Given the description of an element on the screen output the (x, y) to click on. 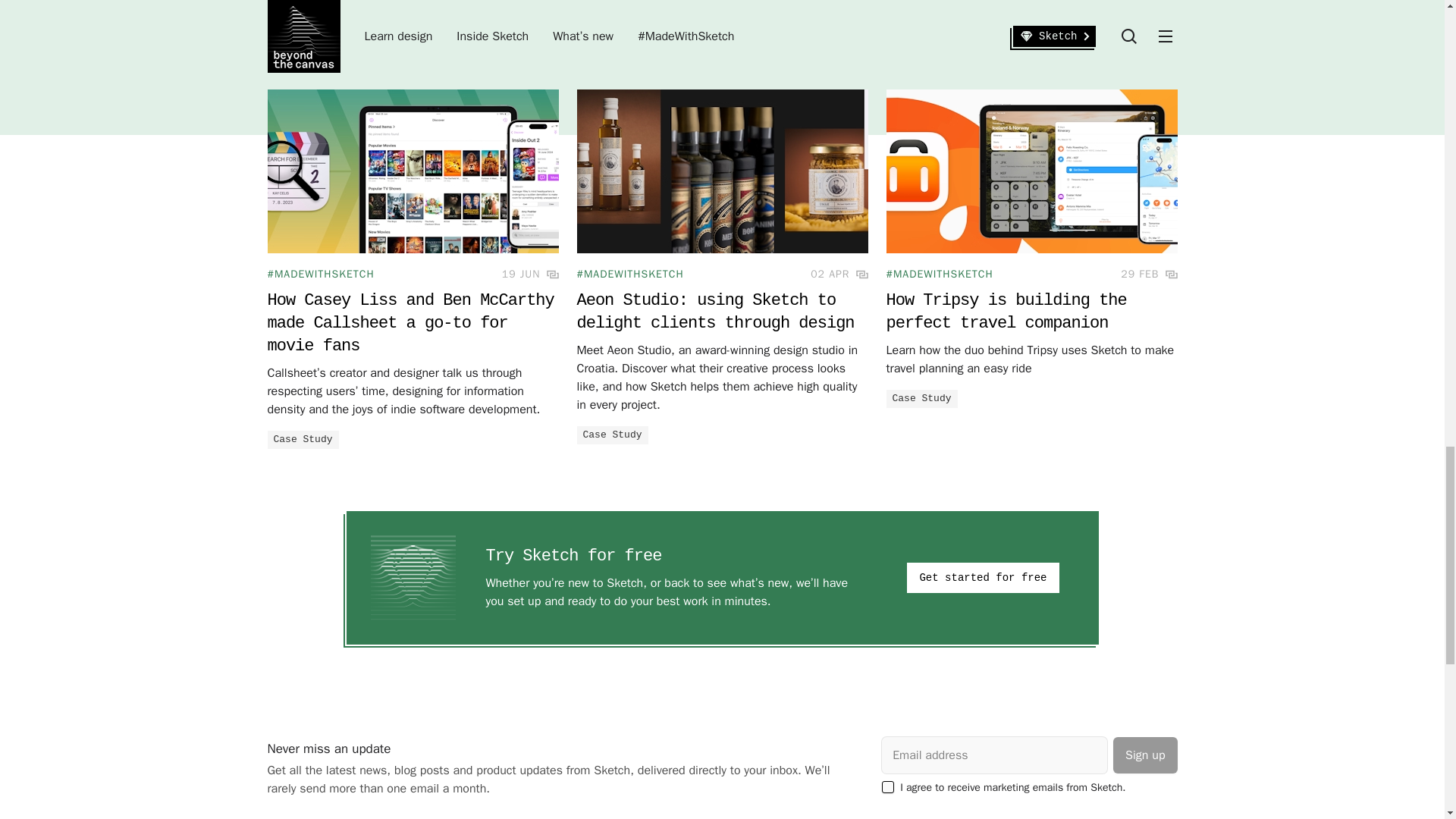
on (887, 787)
